Given the description of an element on the screen output the (x, y) to click on. 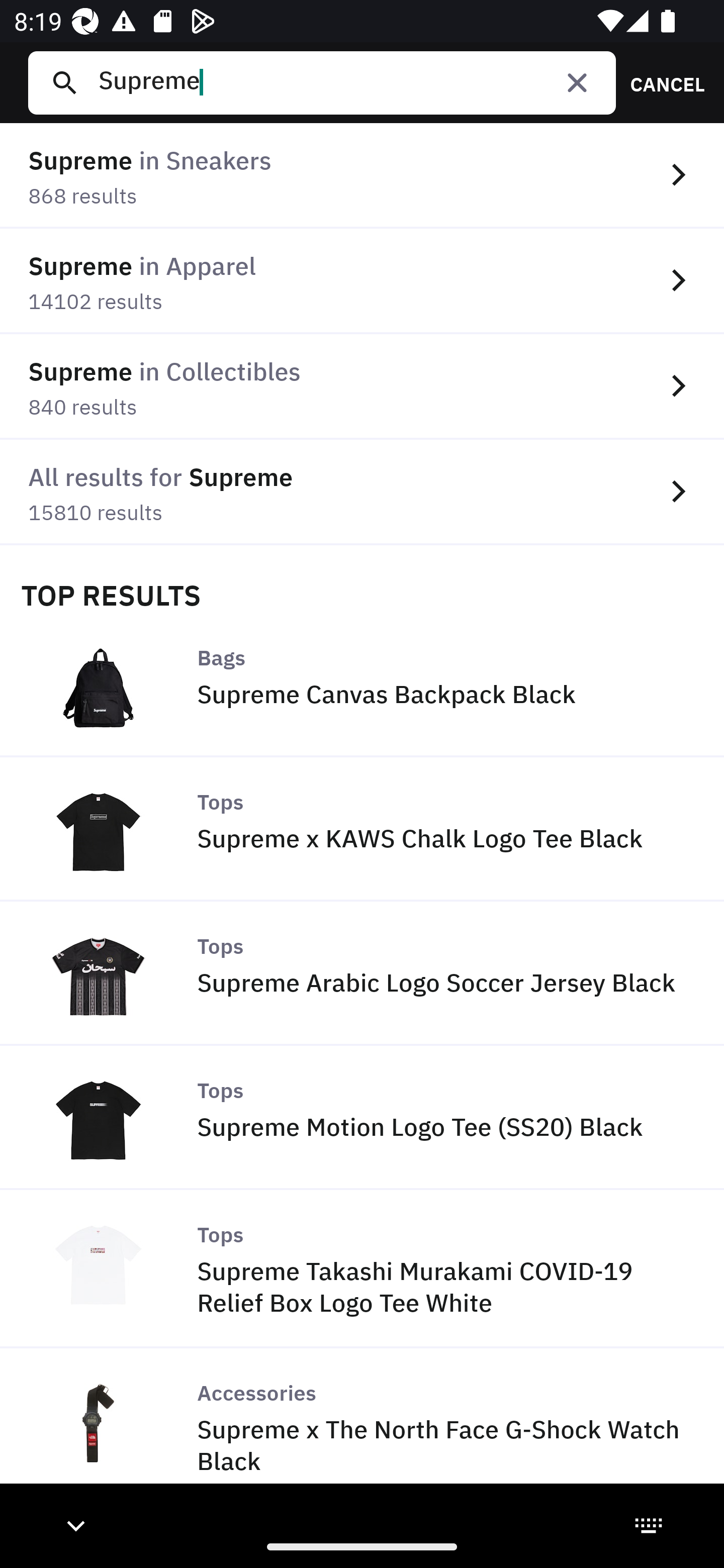
CANCEL (660, 82)
Supreme (349, 82)
 (577, 82)
Supreme  in Sneakers 868 results  (362, 175)
Supreme  in Apparel 14102 results  (362, 280)
Supreme  in Collectibles 840 results  (362, 386)
All results for  Supreme 15810 results  (362, 492)
Bags Supreme Canvas Backpack Black (362, 685)
Tops Supreme x KAWS Chalk Logo Tee Black (362, 829)
Tops Supreme Arabic Logo Soccer Jersey Black (362, 973)
Tops Supreme Motion Logo Tee (SS20) Black (362, 1117)
